Given the description of an element on the screen output the (x, y) to click on. 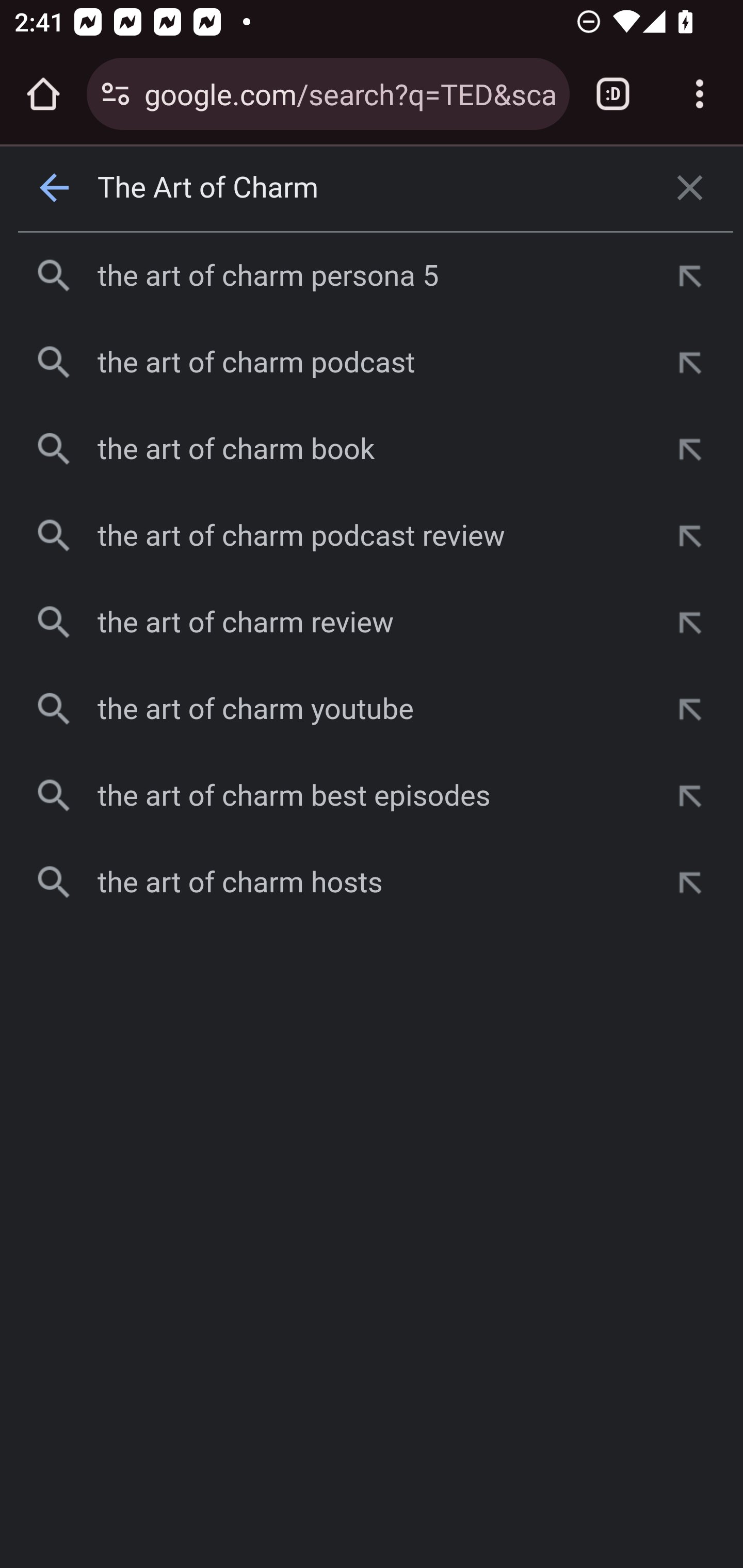
Open the home page (43, 93)
Connection is secure (115, 93)
Switch or close tabs (612, 93)
Customize and control Google Chrome (699, 93)
上一頁 (54, 188)
清除搜尋內容 (690, 188)
The Art of Charm (372, 188)
